Given the description of an element on the screen output the (x, y) to click on. 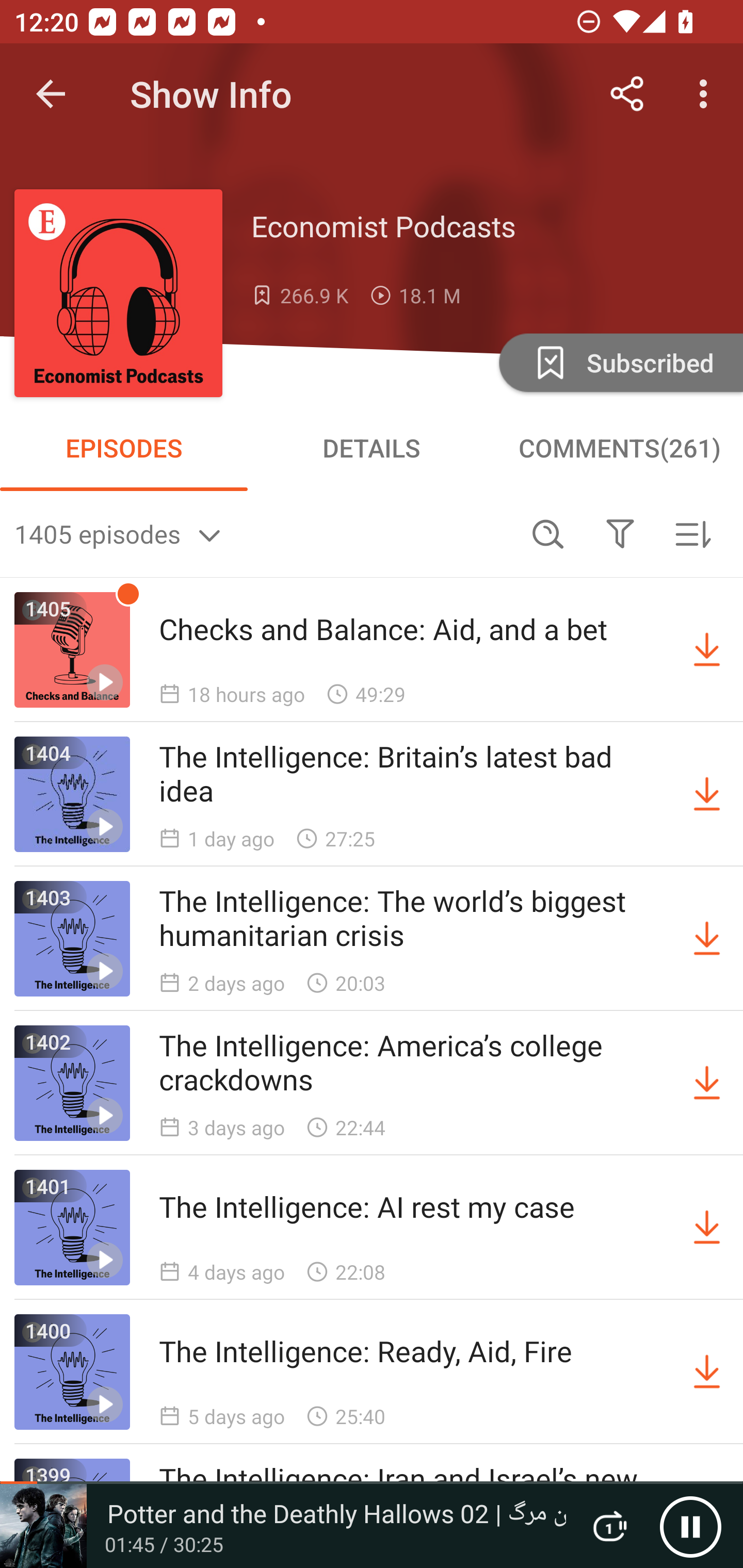
Navigate up (50, 93)
Share (626, 93)
More options (706, 93)
Unsubscribe Subscribed (619, 361)
EPISODES (123, 447)
DETAILS (371, 447)
COMMENTS(261) (619, 447)
1405 episodes  (262, 533)
 Search (547, 533)
 (619, 533)
 Sorted by newest first (692, 533)
Download (706, 649)
Download (706, 793)
Download (706, 939)
Download (706, 1083)
Download (706, 1227)
Download (706, 1371)
Pause (690, 1526)
